Given the description of an element on the screen output the (x, y) to click on. 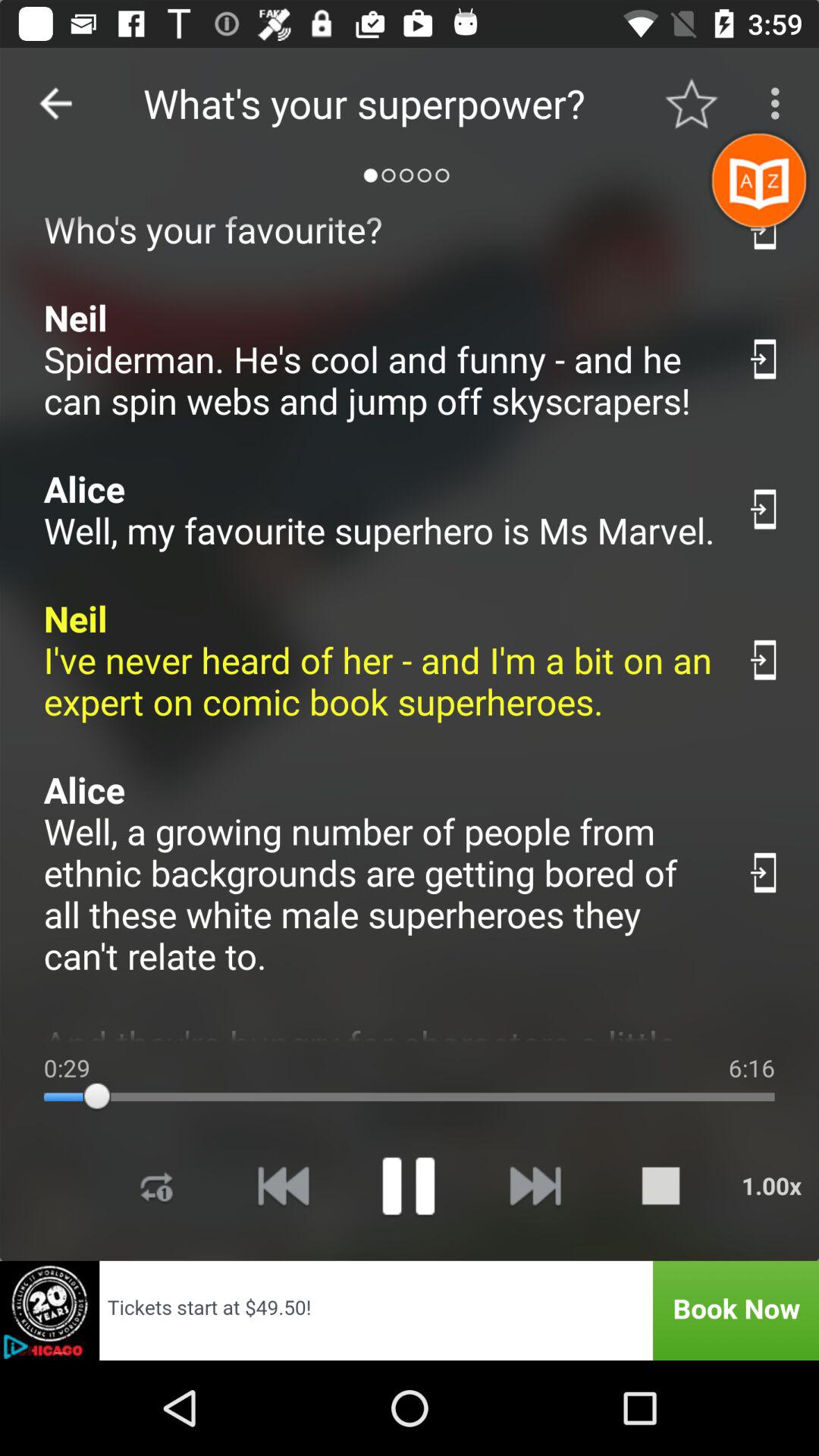
go to this page (765, 509)
